Given the description of an element on the screen output the (x, y) to click on. 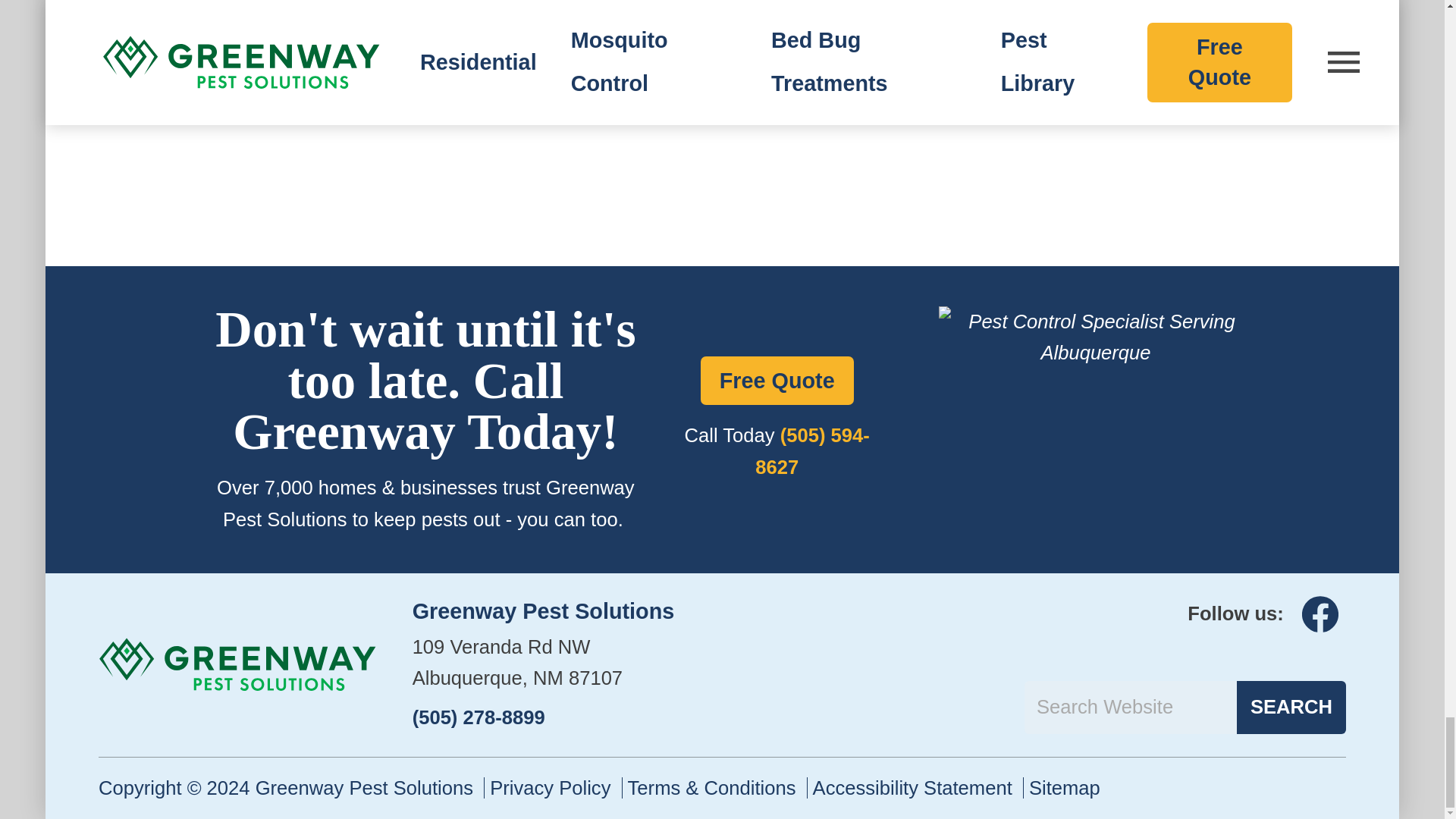
Follow us on Facebook (1320, 614)
